Given the description of an element on the screen output the (x, y) to click on. 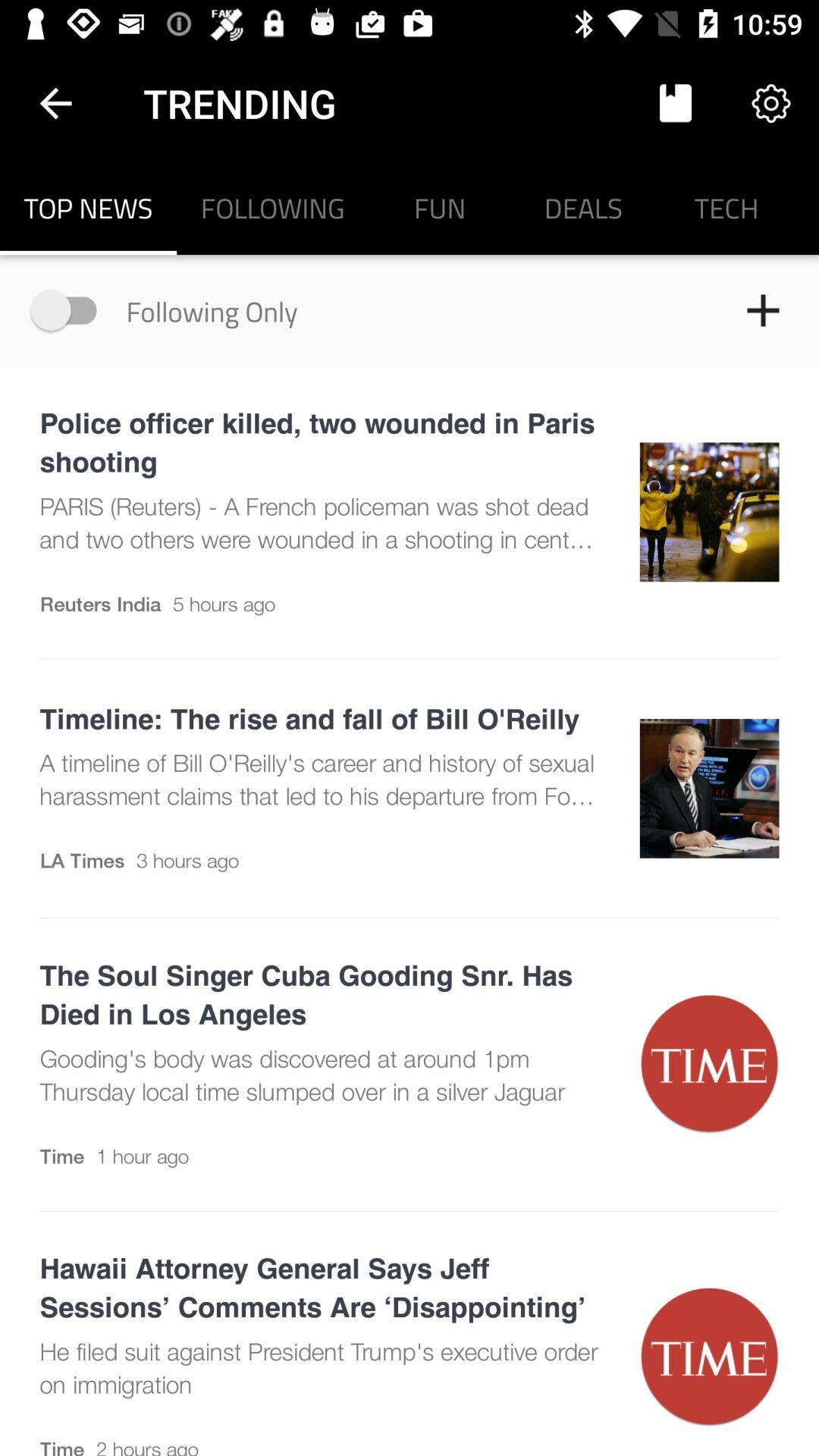
turn on the icon next to the following only icon (70, 310)
